Given the description of an element on the screen output the (x, y) to click on. 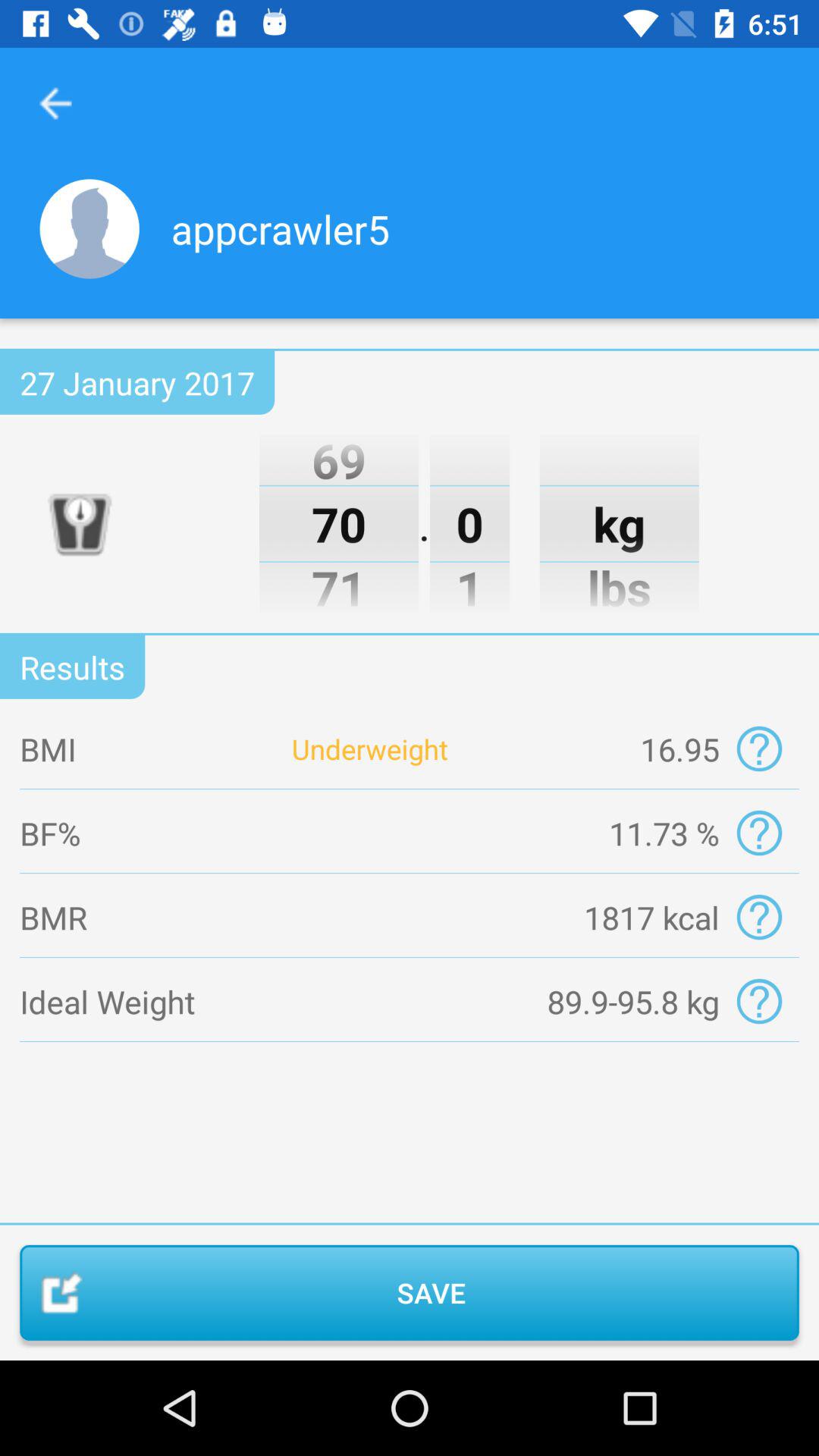
ideal weight calculator (759, 1001)
